Given the description of an element on the screen output the (x, y) to click on. 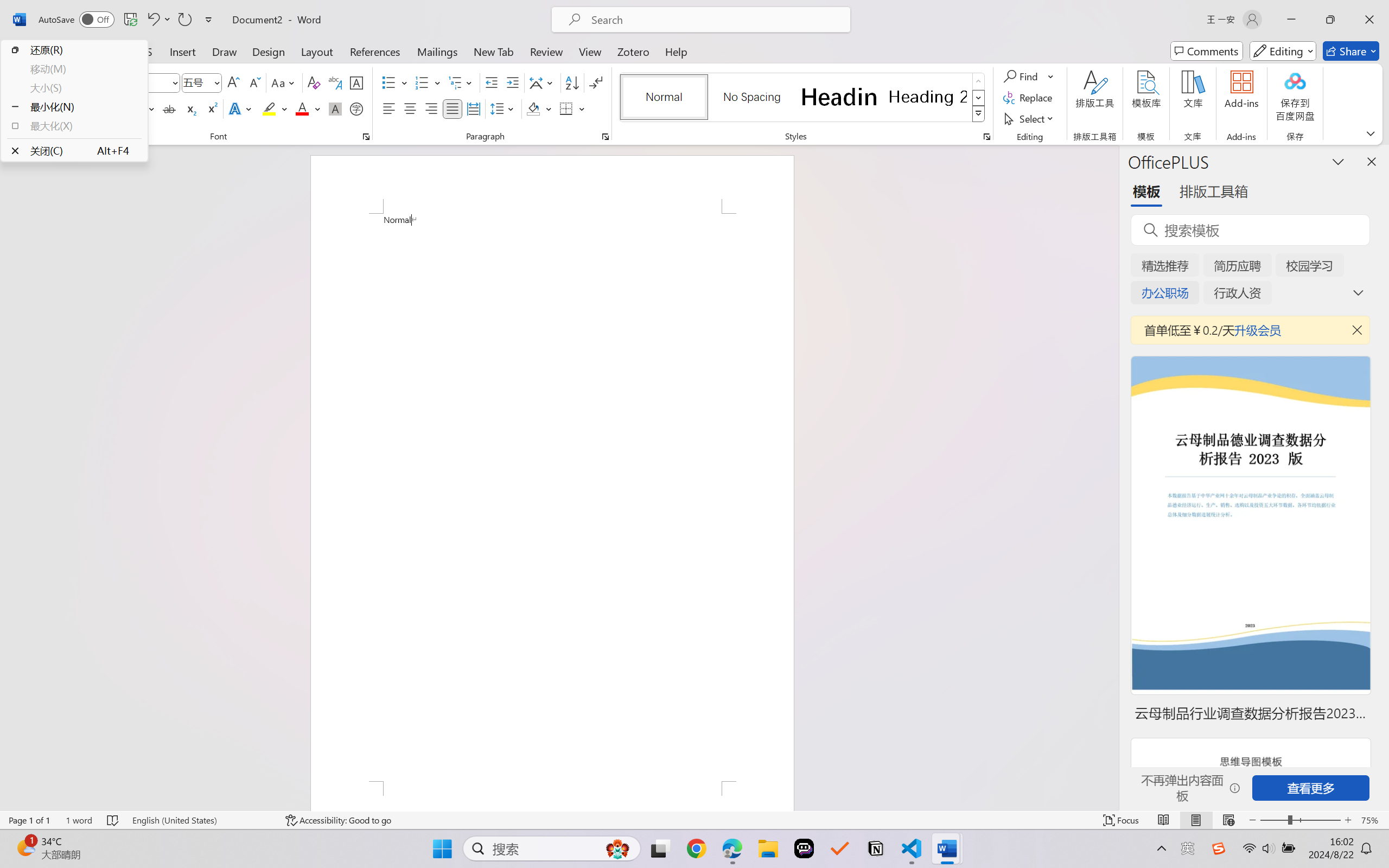
Font Size (201, 82)
Focus  (1121, 819)
Web Layout (1228, 819)
Page Number Page 1 of 1 (29, 819)
Paste (33, 97)
Help (675, 51)
Word Count 1 word (78, 819)
Enclose Characters... (356, 108)
Font Color (308, 108)
Microsoft search (715, 19)
AutoSave (76, 19)
Copy (60, 97)
Zoom (1300, 819)
